Given the description of an element on the screen output the (x, y) to click on. 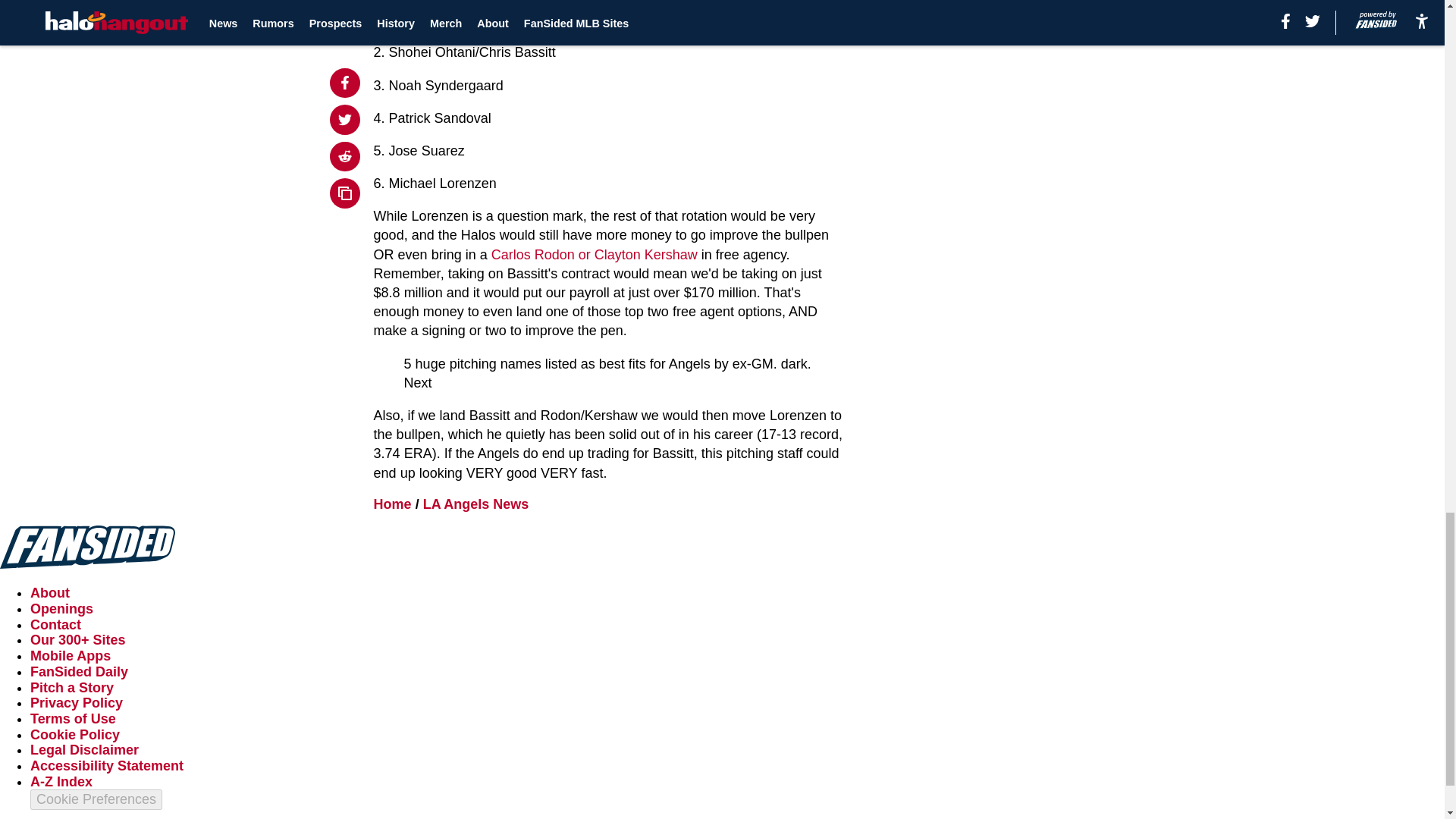
Contact (55, 624)
Carlos Rodon or Clayton Kershaw (594, 254)
LA Angels News (476, 503)
Openings (61, 608)
Home (393, 503)
About (49, 592)
